Given the description of an element on the screen output the (x, y) to click on. 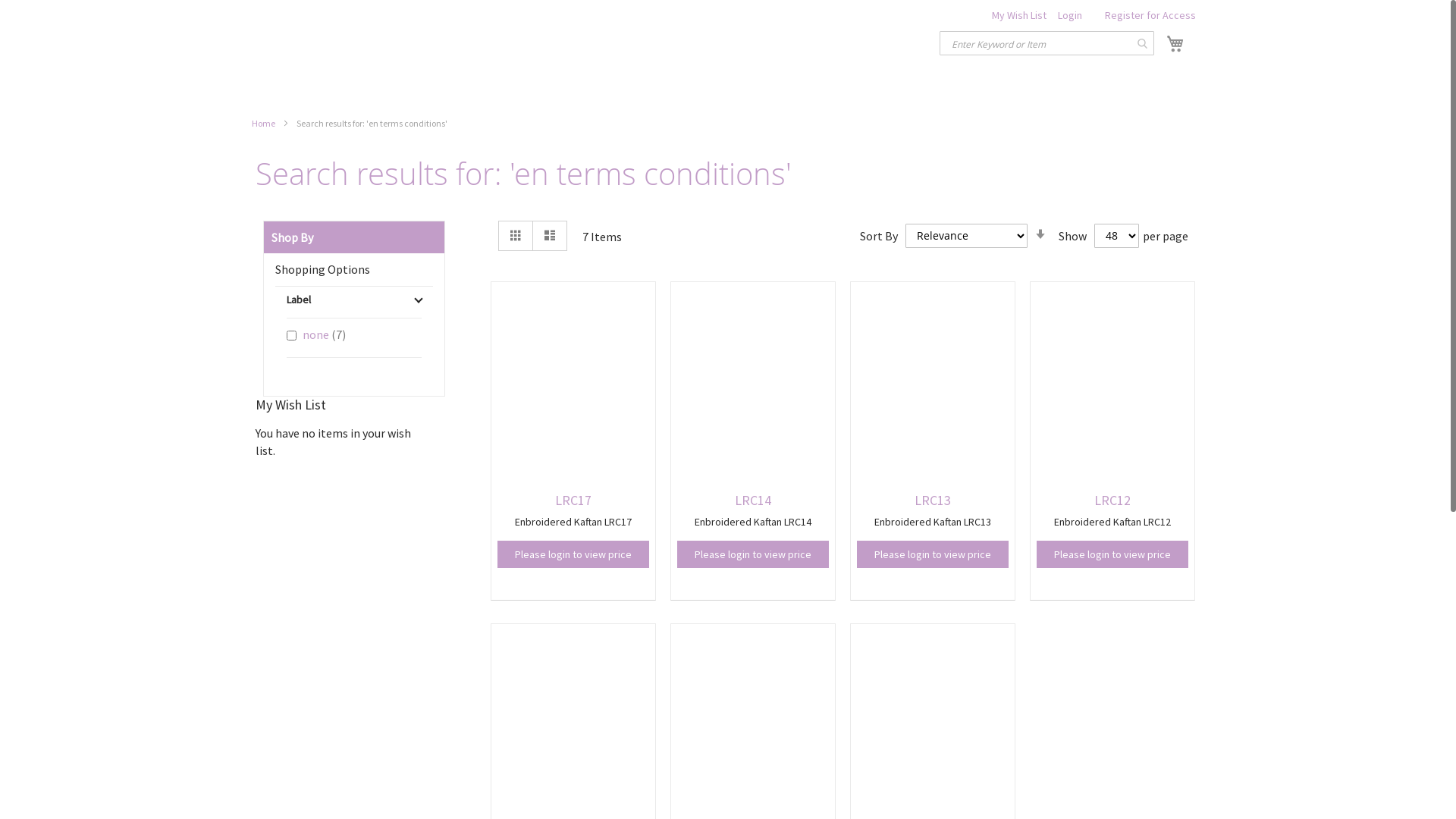
none 7
items Element type: text (315, 334)
Please login to view price Element type: text (1112, 553)
Please login to view price Element type: text (573, 553)
Enbroidered Kaftan LRC17 Element type: text (573, 521)
Please login to view price Element type: text (753, 553)
Home Element type: text (263, 122)
Set Ascending Direction Element type: text (1040, 234)
Enbroidered Kaftan LRC14 Element type: text (753, 521)
Enbroidered Kaftan LRC12 Element type: text (1112, 521)
Login Element type: text (1069, 14)
My Cart Element type: text (1174, 43)
Enbroidered Kaftan LRC13 Element type: text (932, 521)
Register for Access Element type: text (1149, 14)
Gift Zone Element type: hover (296, 43)
List Element type: text (549, 235)
Gift Zone Element type: hover (254, 43)
Please login to view price Element type: text (932, 553)
My Wish List Element type: text (1018, 14)
